Given the description of an element on the screen output the (x, y) to click on. 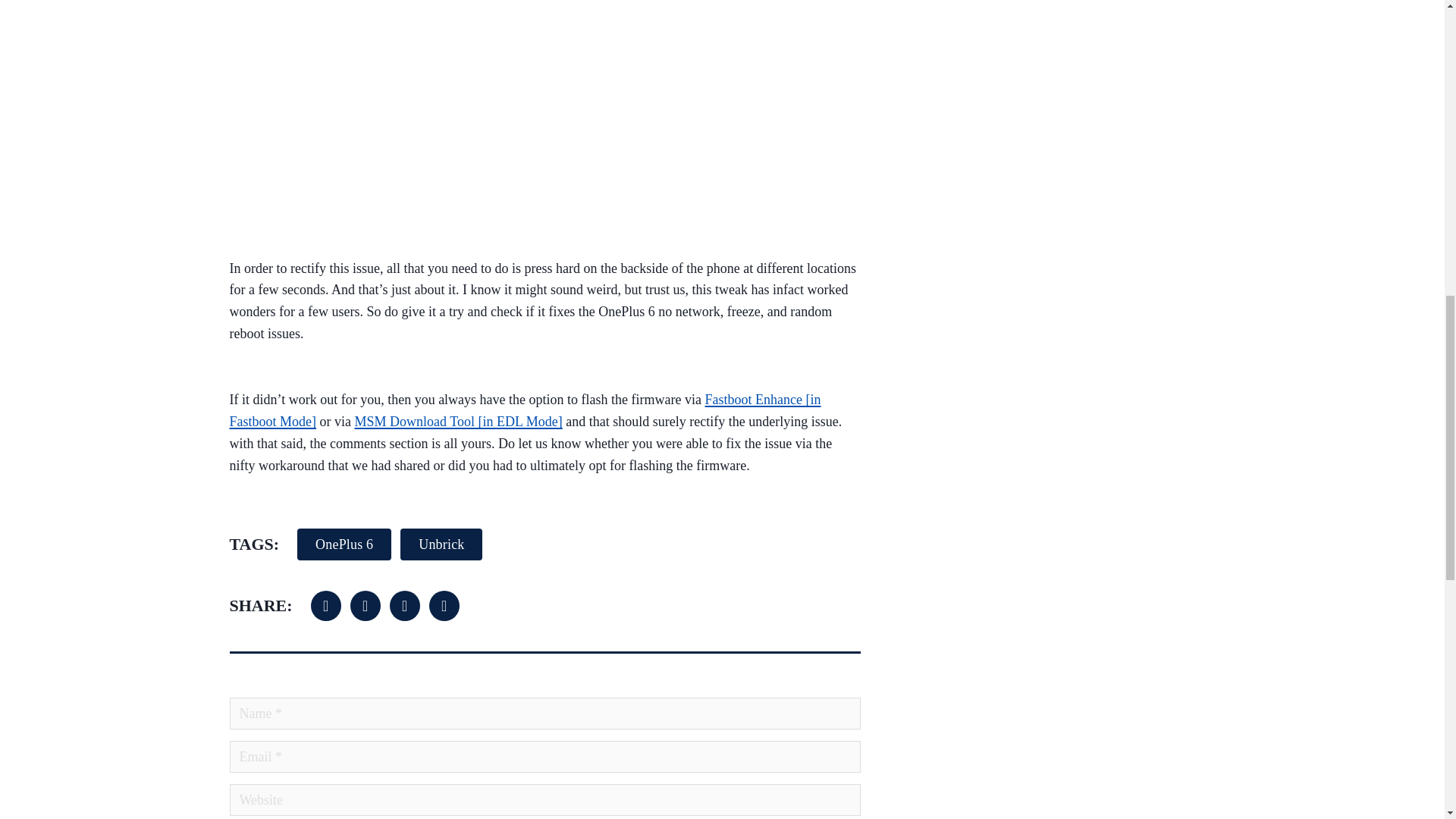
Unbrick (440, 544)
OnePlus 6 (344, 544)
